Given the description of an element on the screen output the (x, y) to click on. 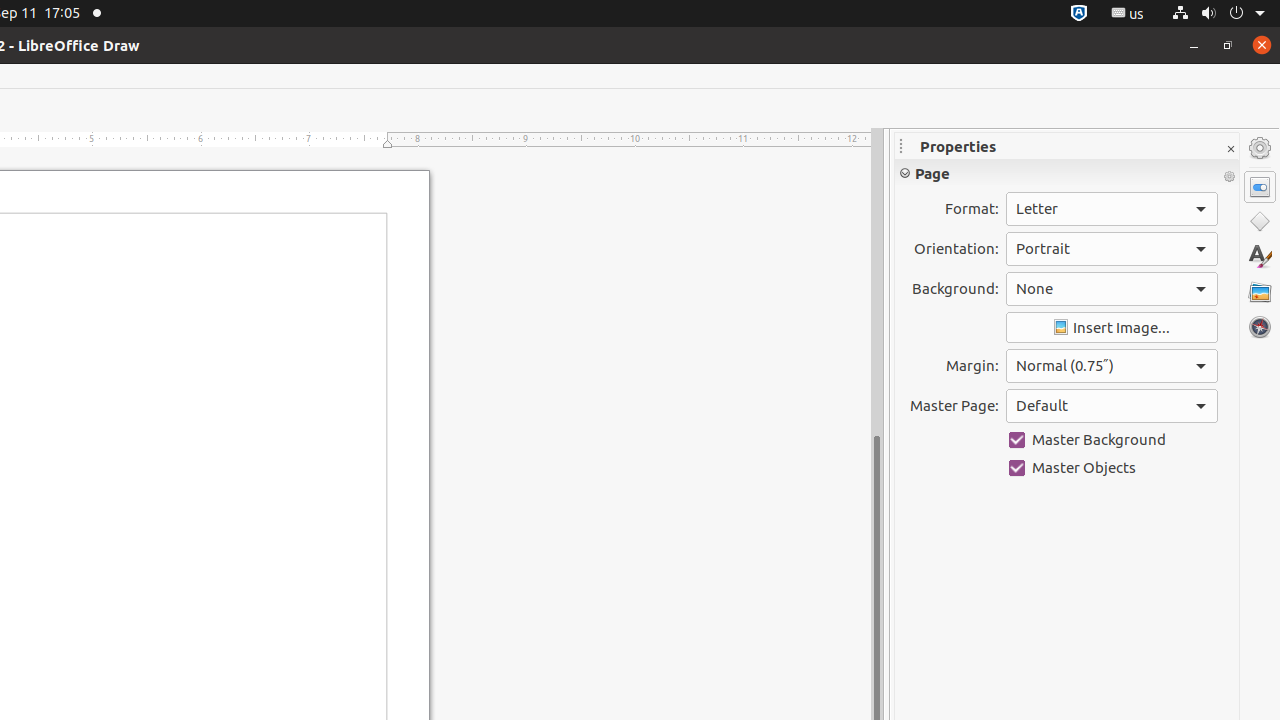
Properties Element type: radio-button (1260, 187)
Master Objects Element type: check-box (1112, 468)
